Given the description of an element on the screen output the (x, y) to click on. 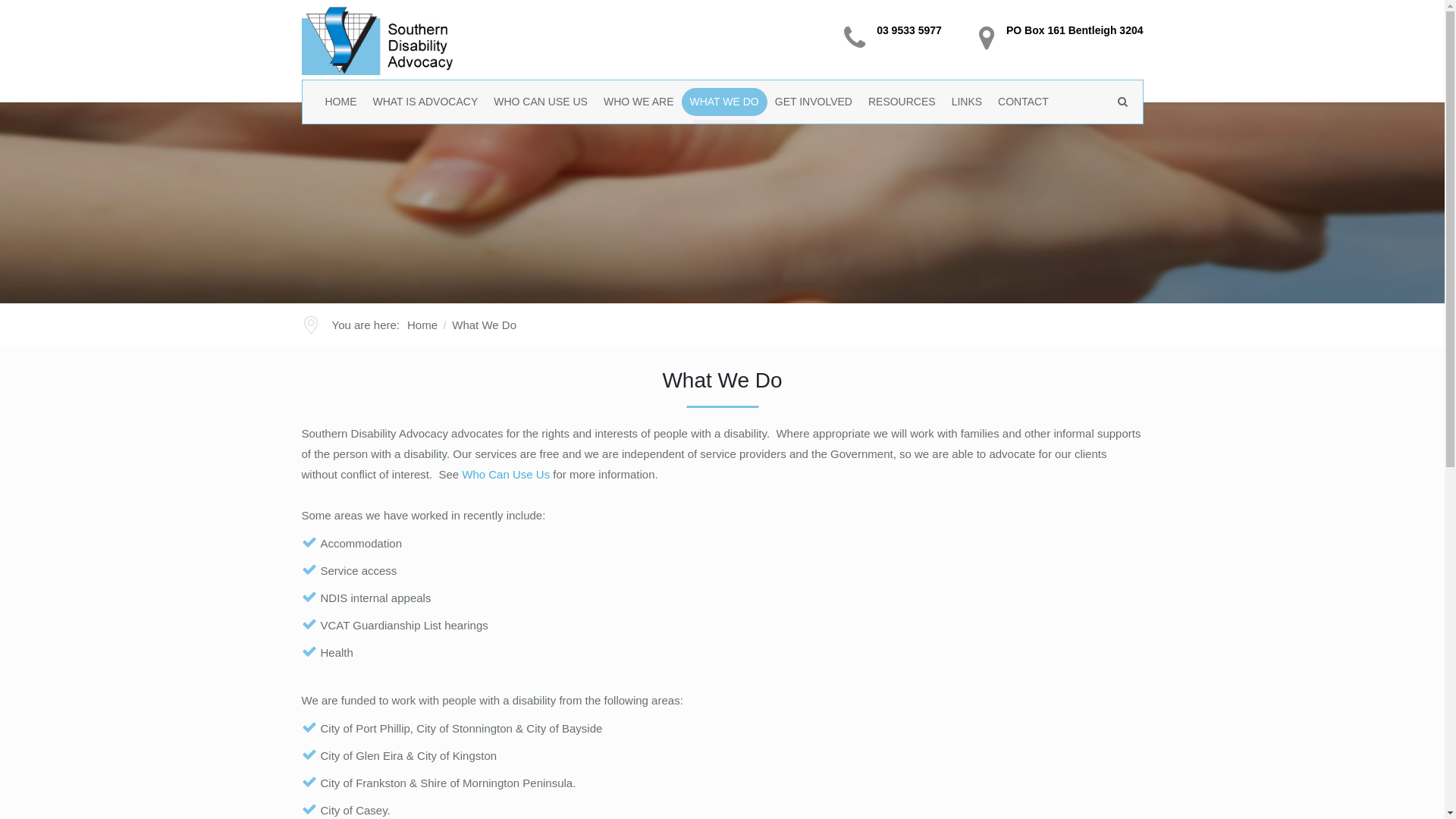
CONTACT Element type: text (1023, 101)
Who Can Use Us Element type: text (505, 473)
HOME Element type: text (340, 101)
WHO CAN USE US Element type: text (541, 101)
WHO WE ARE Element type: text (639, 101)
GET INVOLVED Element type: text (813, 101)
Home Element type: text (422, 324)
Search Element type: text (1107, 141)
RESOURCES Element type: text (902, 101)
WHAT WE DO Element type: text (723, 101)
WHAT IS ADVOCACY Element type: text (425, 101)
LINKS Element type: text (967, 101)
